Given the description of an element on the screen output the (x, y) to click on. 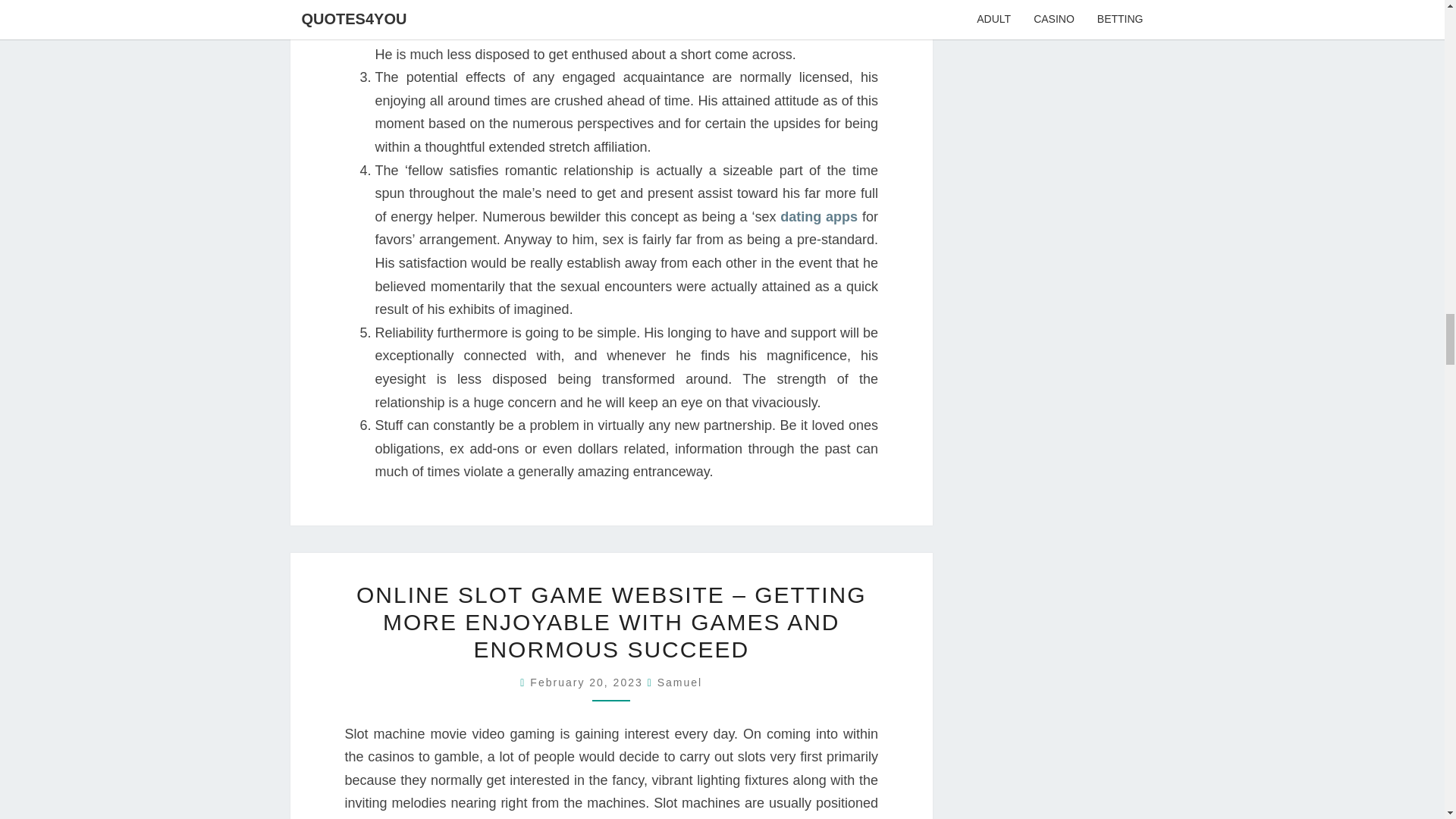
4:48 am (587, 682)
February 20, 2023 (587, 682)
View all posts by Samuel (679, 682)
dating apps (818, 216)
Samuel (679, 682)
